Given the description of an element on the screen output the (x, y) to click on. 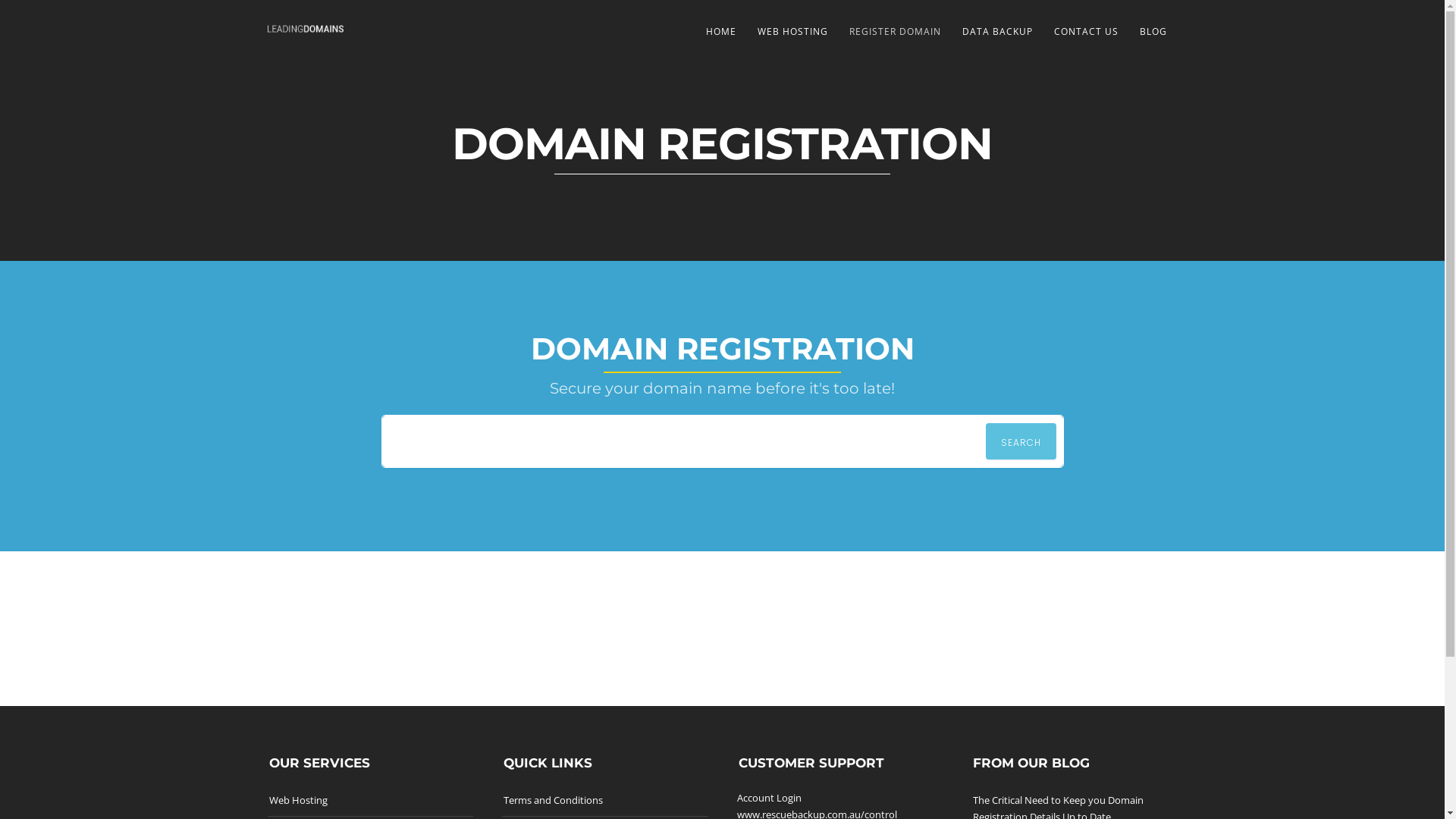
Web Hosting Element type: text (297, 799)
BLOG Element type: text (1152, 31)
Terms and Conditions Element type: text (552, 799)
HOME Element type: text (720, 31)
REGISTER DOMAIN Element type: text (894, 31)
SEARCH Element type: text (1020, 441)
DATA BACKUP Element type: text (996, 31)
WEB HOSTING Element type: text (791, 31)
CONTACT US Element type: text (1086, 31)
